Given the description of an element on the screen output the (x, y) to click on. 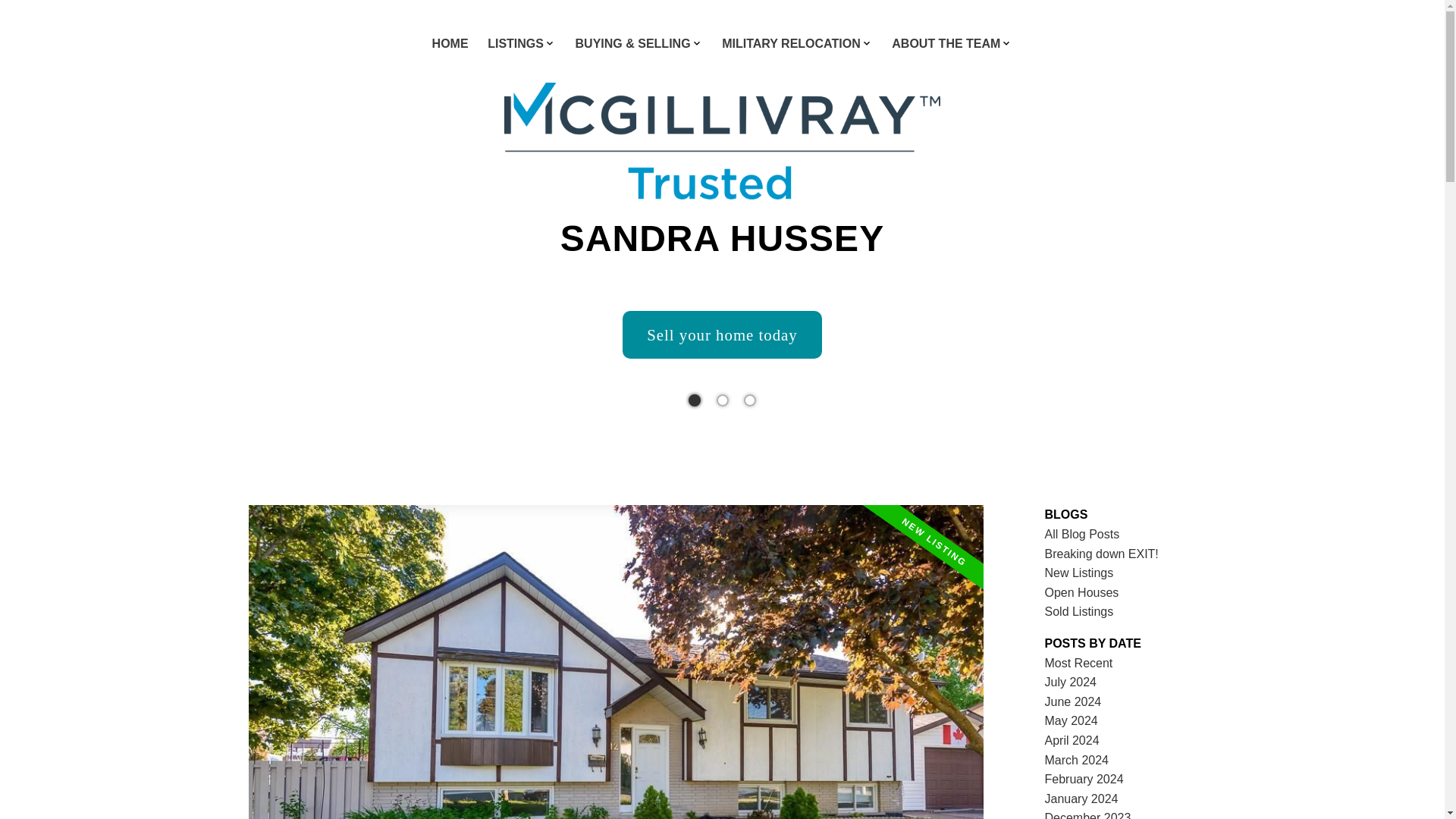
Sold Listings (1079, 611)
April 2024 (1072, 739)
Most Recent (1079, 662)
March 2024 (1077, 759)
MILITARY RELOCATION (791, 45)
ABOUT THE TEAM (945, 45)
July 2024 (1071, 681)
May 2024 (1071, 720)
Sell your home today (722, 334)
June 2024 (1073, 701)
HOME (450, 45)
Breaking down EXIT! (1101, 553)
New Listings (1079, 572)
All Blog Posts (1082, 533)
Open Houses (1082, 592)
